Given the description of an element on the screen output the (x, y) to click on. 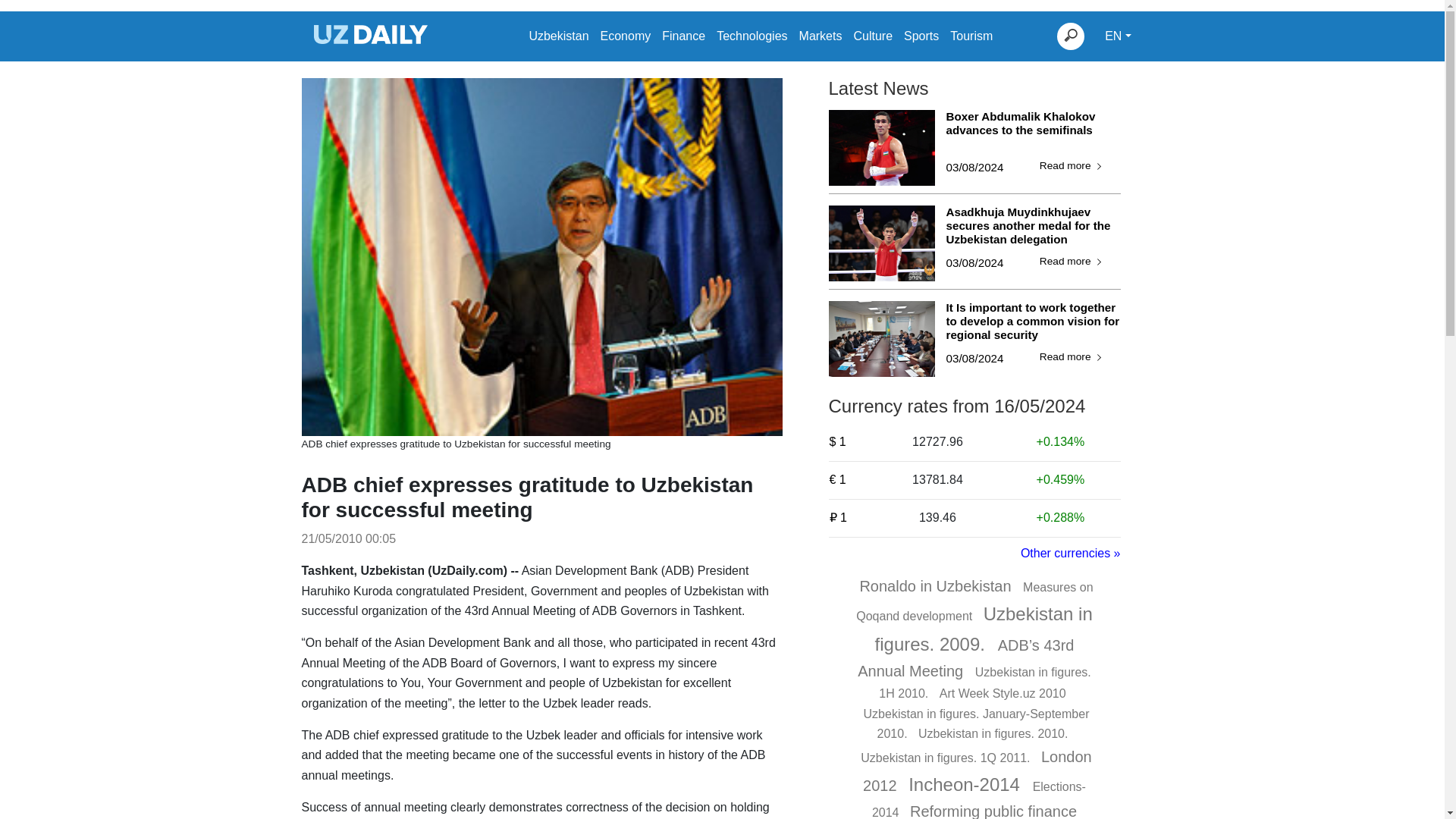
Economy (624, 35)
Markets (821, 35)
EN (1118, 35)
Search (1070, 35)
Technologies (751, 35)
Boxer Abdumalik Khalokov advances to the semifinals (1033, 130)
Sports (921, 35)
Read more (1072, 357)
Uzbekistan (558, 35)
